Given the description of an element on the screen output the (x, y) to click on. 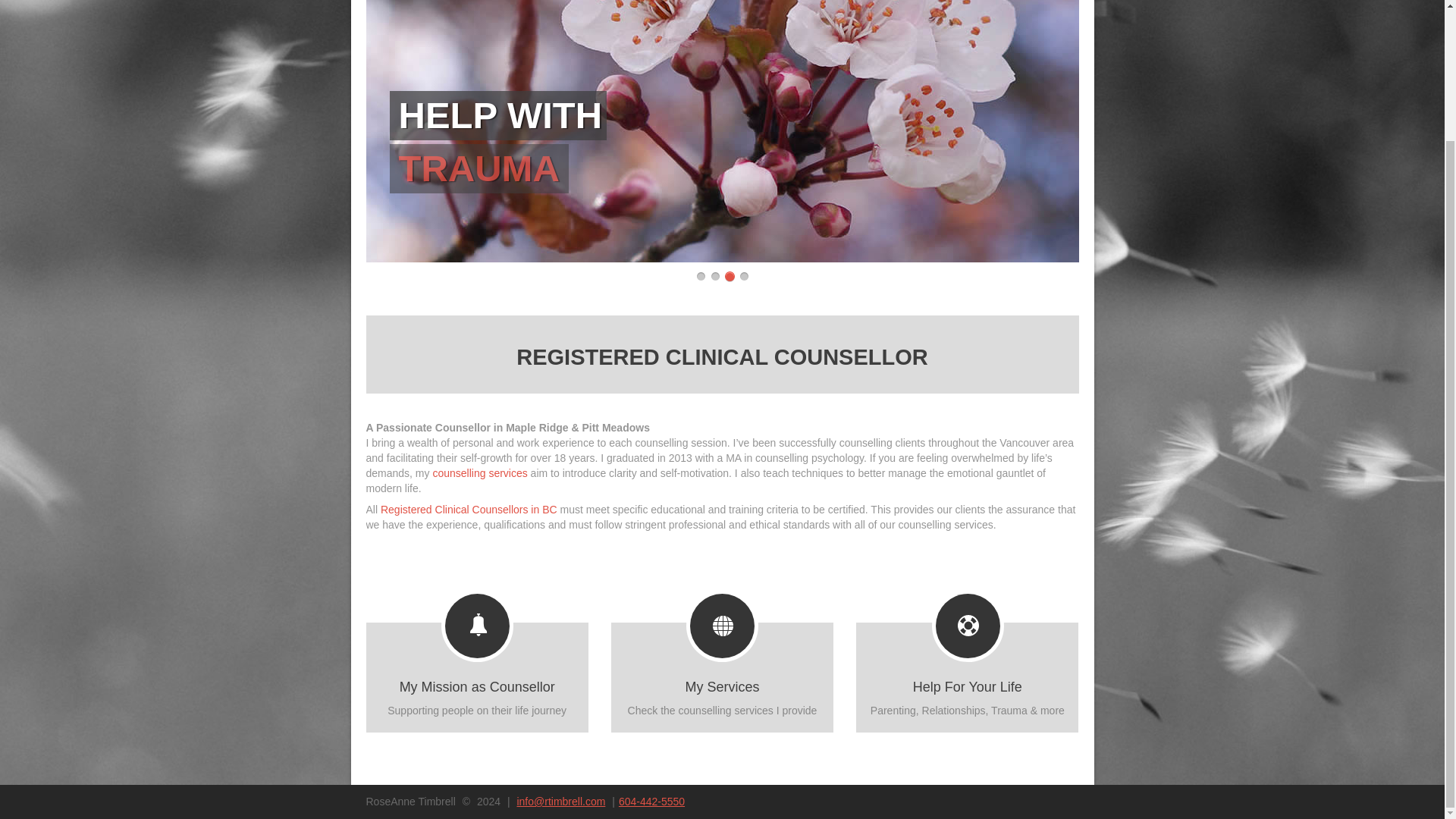
Registered Clinical Counsellors in BC (468, 509)
604-442-5550 (721, 677)
counselling services (651, 801)
